Given the description of an element on the screen output the (x, y) to click on. 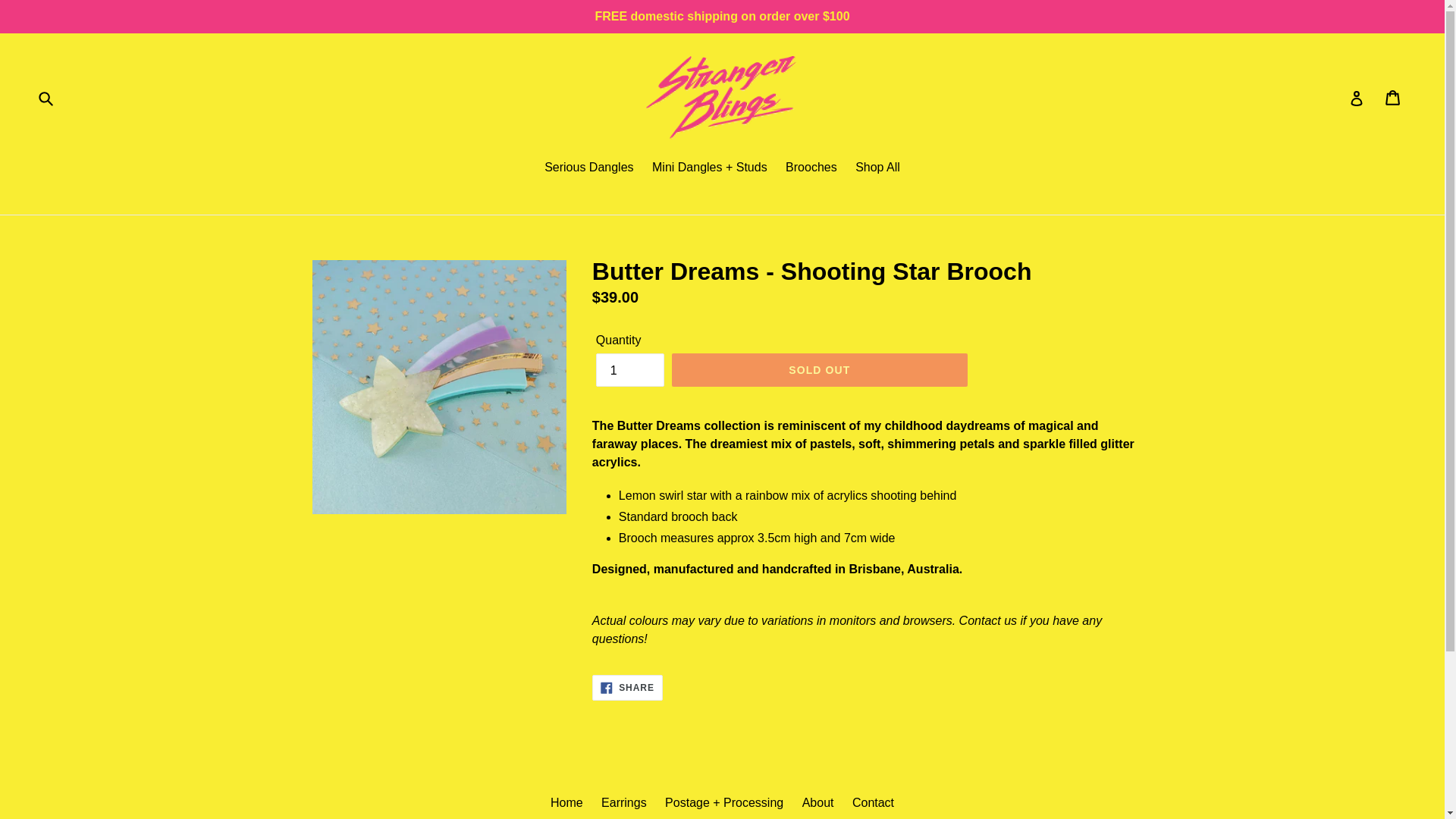
Contact (872, 802)
Shop All (627, 687)
About (877, 168)
Log in (818, 802)
Cart (1356, 97)
Home (1393, 98)
Serious Dangles (566, 802)
1 (588, 168)
SOLD OUT (629, 369)
Brooches (819, 369)
Earrings (810, 168)
Submit (623, 802)
